Given the description of an element on the screen output the (x, y) to click on. 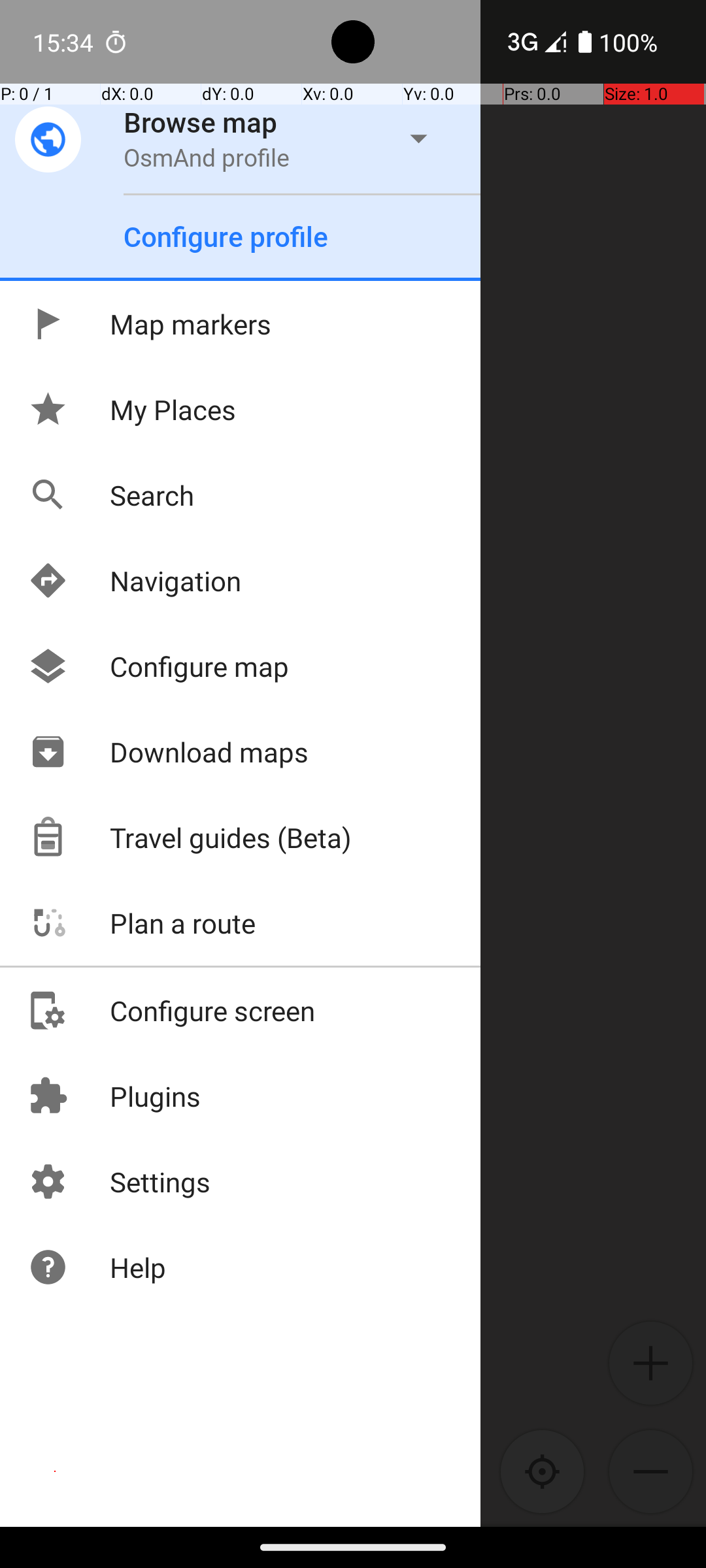
Browse map Element type: android.widget.TextView (200, 121)
OsmAnd profile Element type: android.widget.TextView (206, 156)
Configure profile Element type: android.widget.TextView (225, 235)
Map markers Element type: android.widget.TextView (149, 323)
My Places Element type: android.widget.TextView (131, 409)
Navigation Element type: android.widget.TextView (134, 580)
Download maps Element type: android.widget.TextView (168, 751)
Travel guides (Beta) Element type: android.widget.TextView (189, 837)
Plan a route Element type: android.widget.TextView (141, 922)
Configure screen Element type: android.widget.TextView (171, 1010)
Plugins Element type: android.widget.TextView (114, 1095)
